Given the description of an element on the screen output the (x, y) to click on. 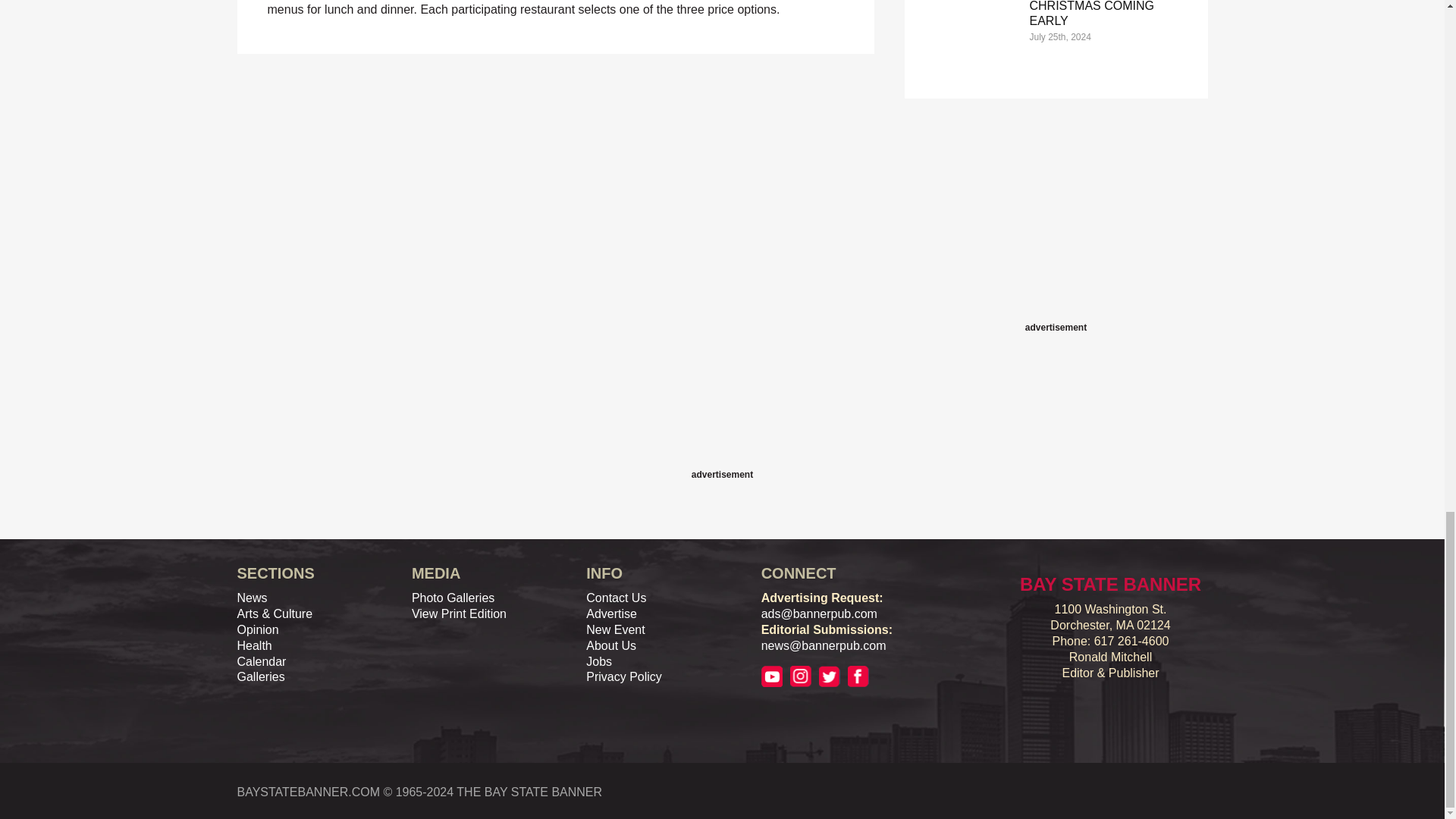
3rd party ad content (721, 431)
3rd party ad content (1055, 223)
